Given the description of an element on the screen output the (x, y) to click on. 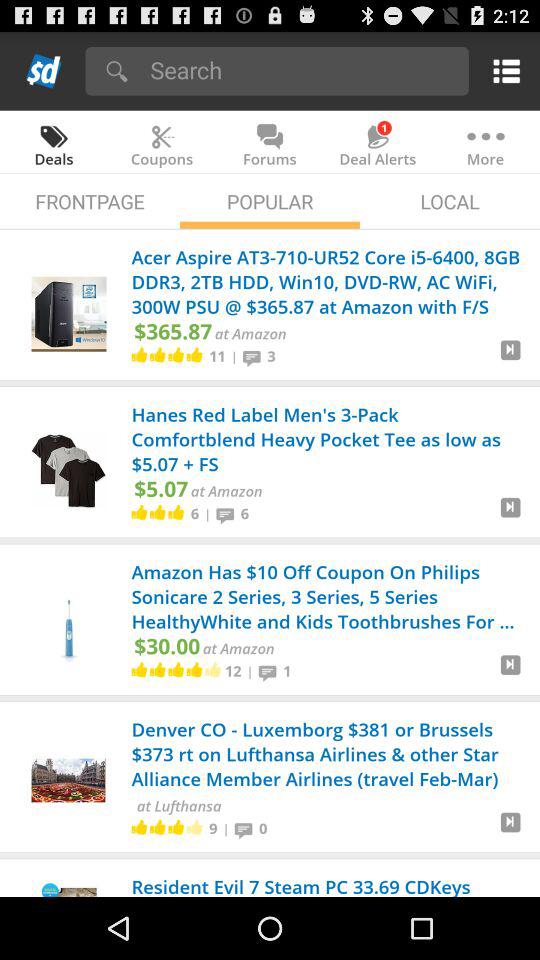
select the item below at amazon icon (249, 671)
